Given the description of an element on the screen output the (x, y) to click on. 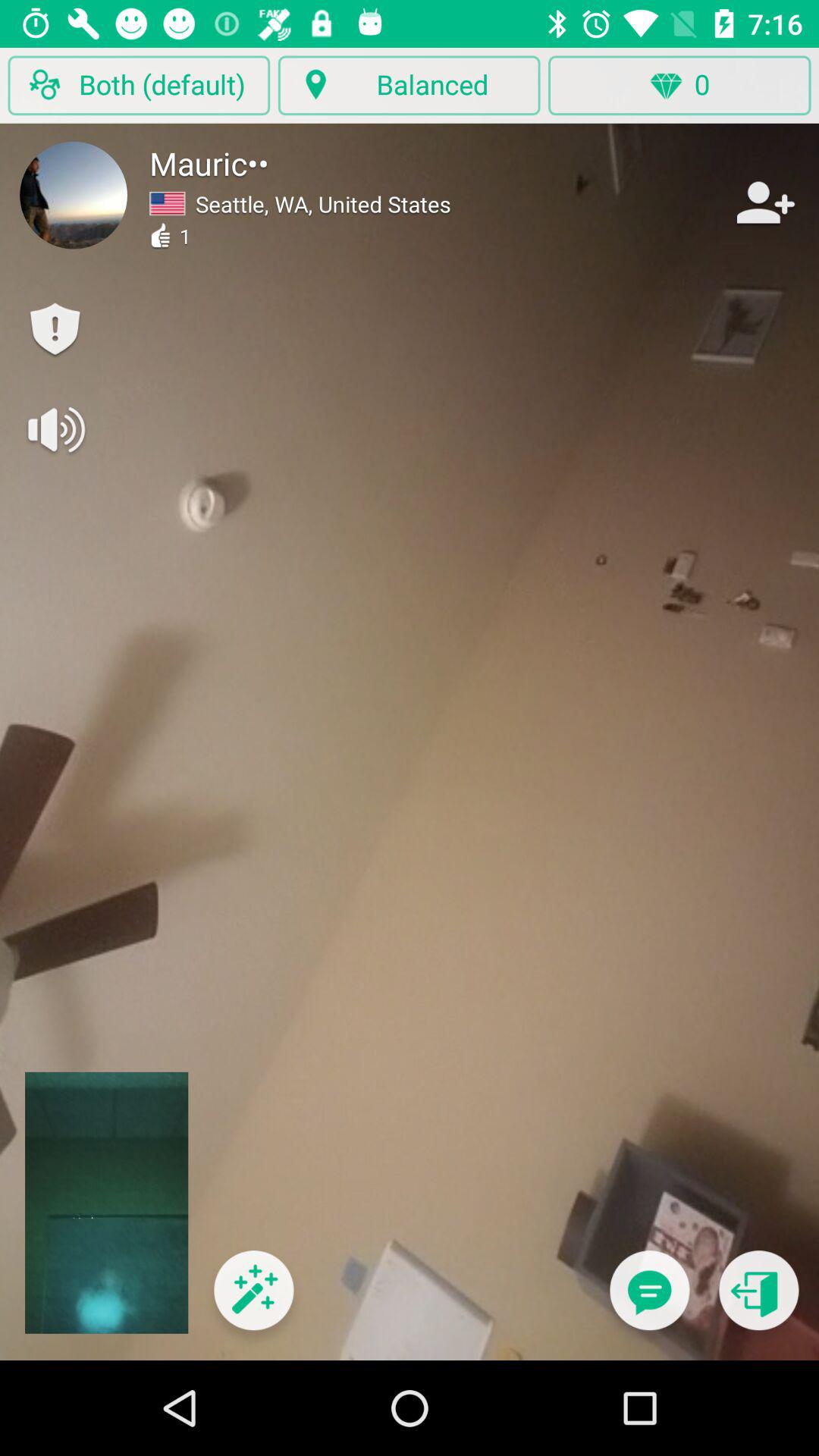
apply filters (253, 1300)
